Given the description of an element on the screen output the (x, y) to click on. 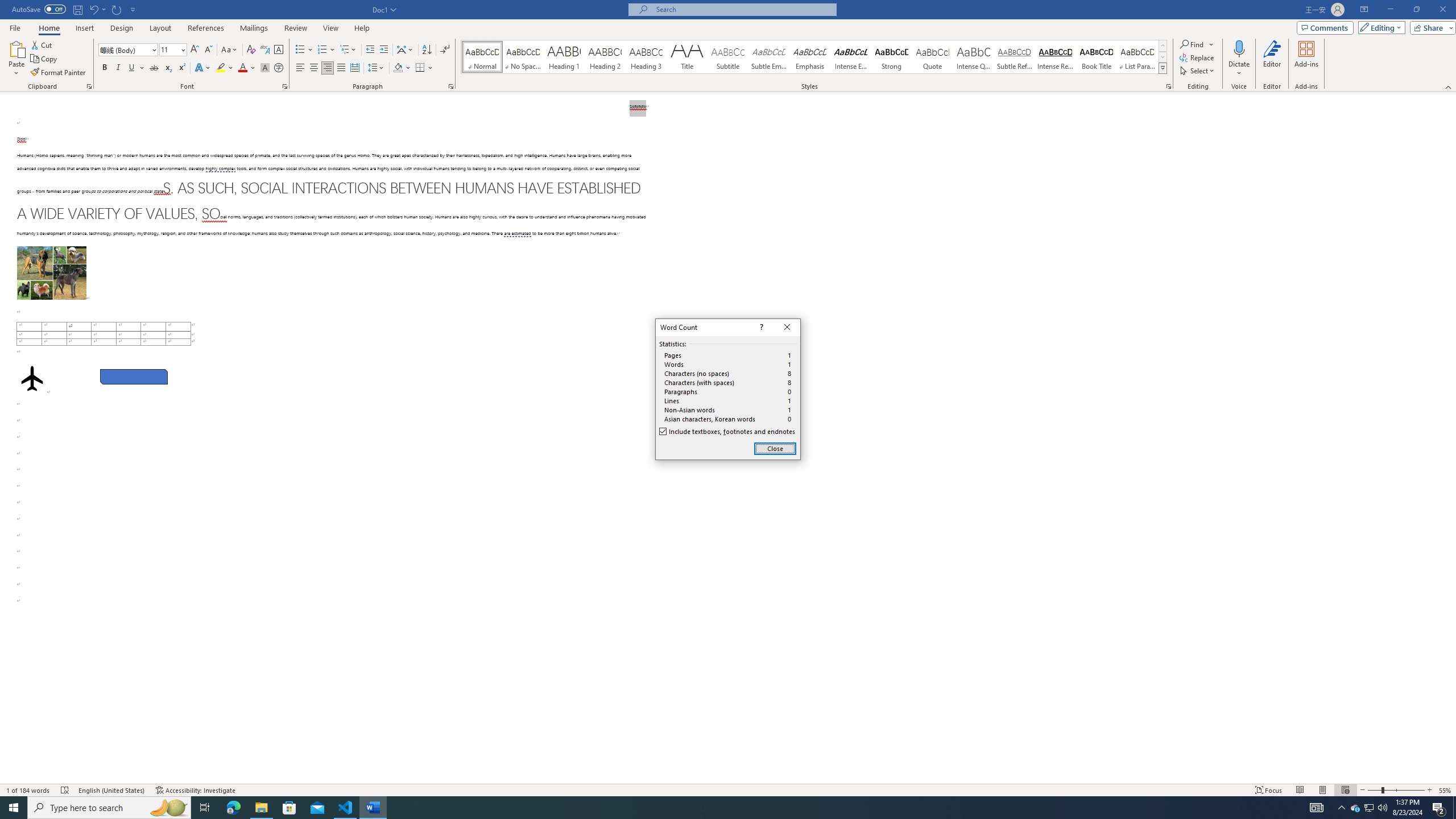
Subtle Reference (1014, 56)
Microsoft Edge (233, 807)
Running applications (717, 807)
Repeat Paragraph Alignment (117, 9)
Intense Reference (1055, 56)
